Given the description of an element on the screen output the (x, y) to click on. 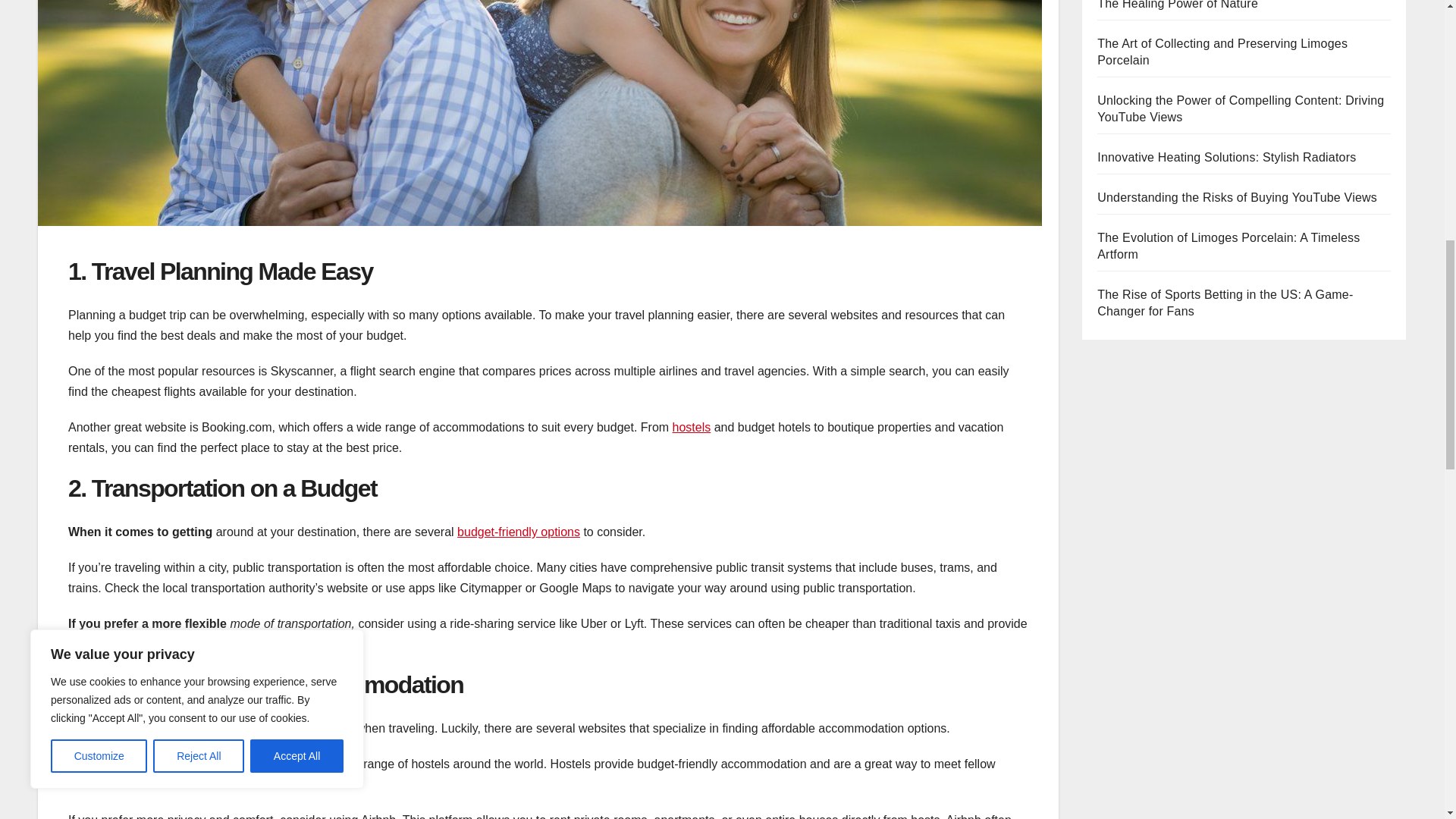
hostels (691, 427)
budget-friendly options (518, 531)
service (219, 644)
